Given the description of an element on the screen output the (x, y) to click on. 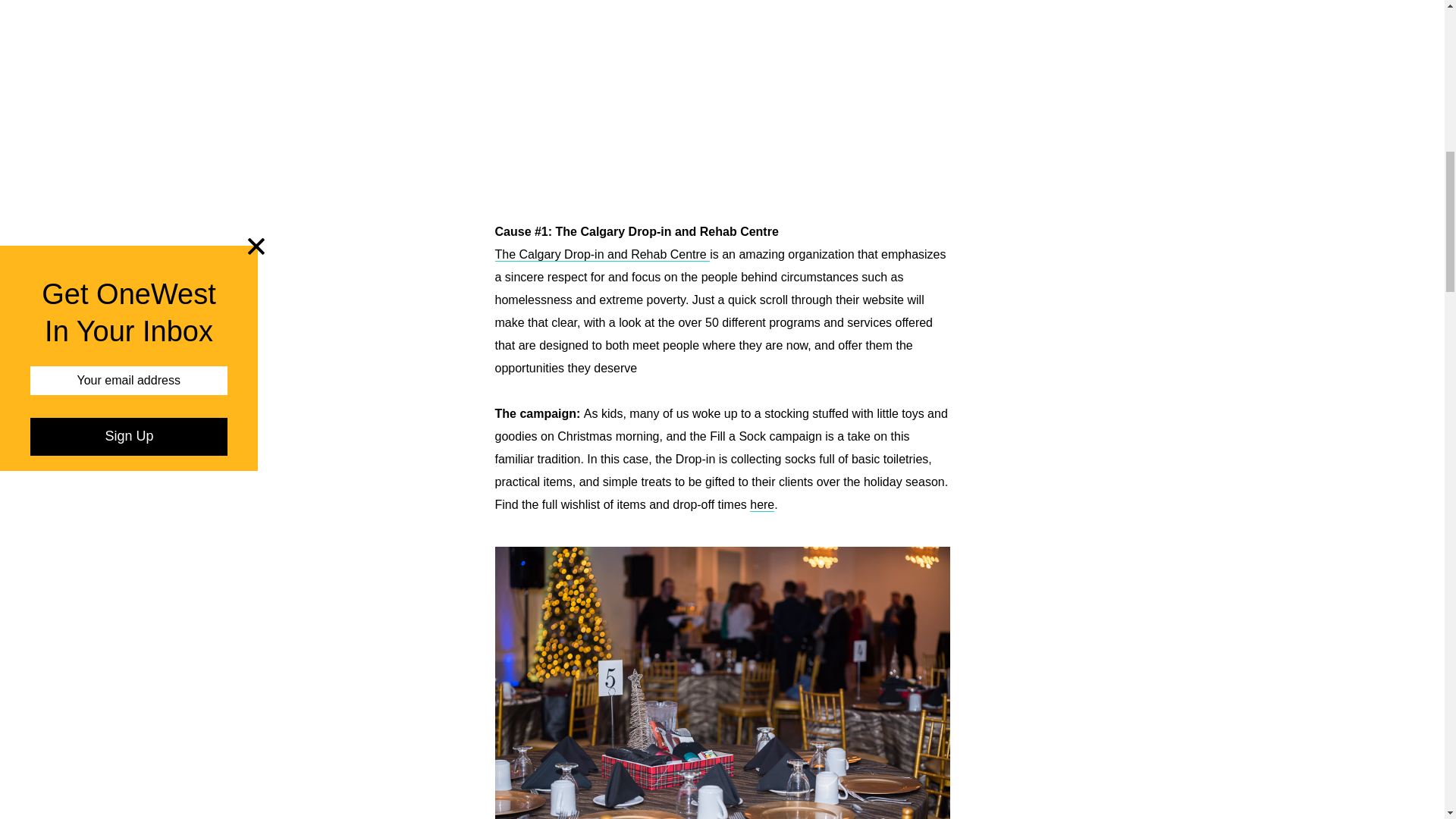
here (761, 504)
The Calgary Drop-in and Rehab Centre (602, 254)
